Given the description of an element on the screen output the (x, y) to click on. 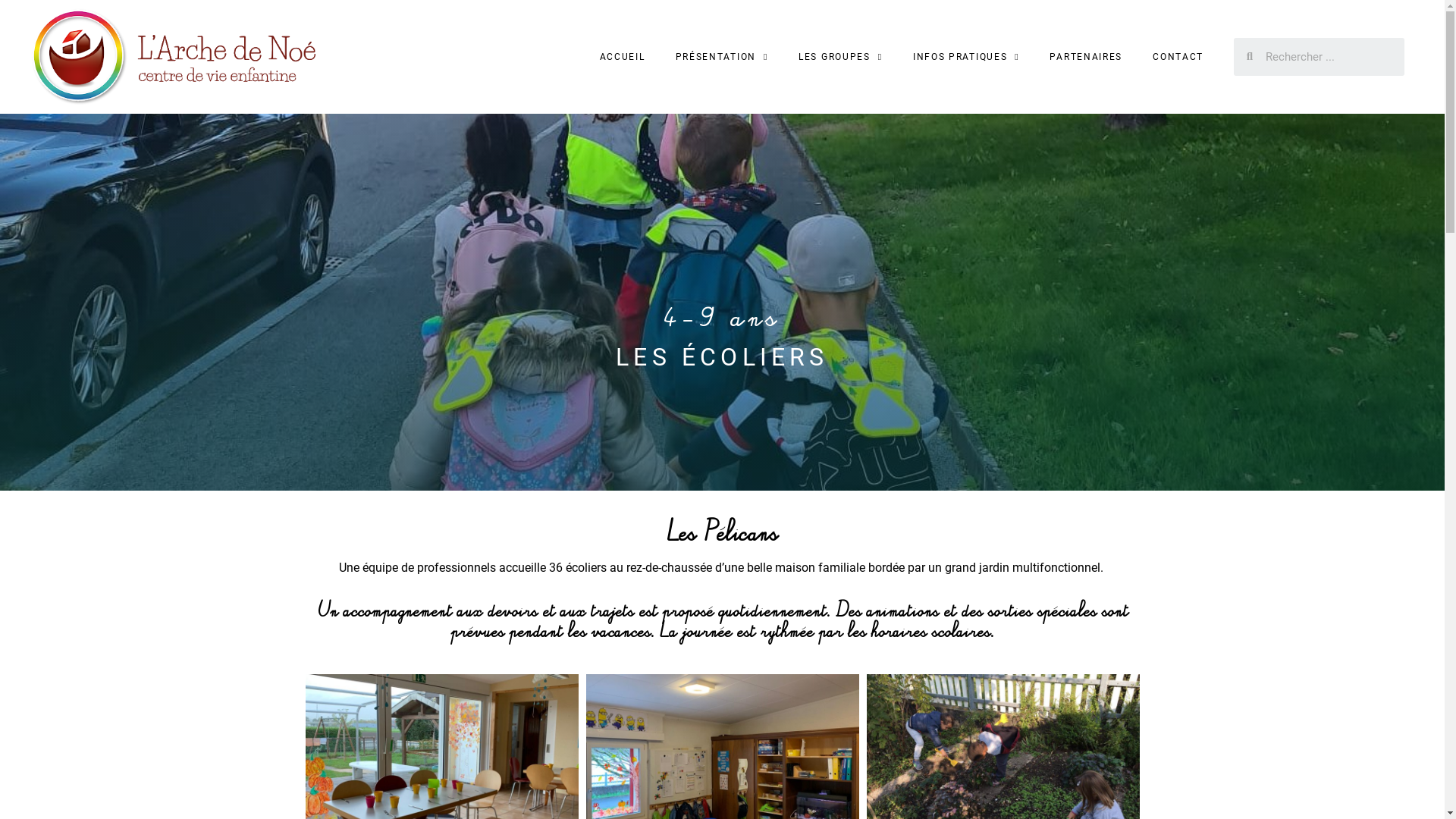
PARTENAIRES Element type: text (1085, 56)
INFOS PRATIQUES Element type: text (966, 56)
ACCUEIL Element type: text (622, 56)
Rechercher  Element type: hover (1328, 56)
LES GROUPES Element type: text (840, 56)
CONTACT Element type: text (1177, 56)
